Given the description of an element on the screen output the (x, y) to click on. 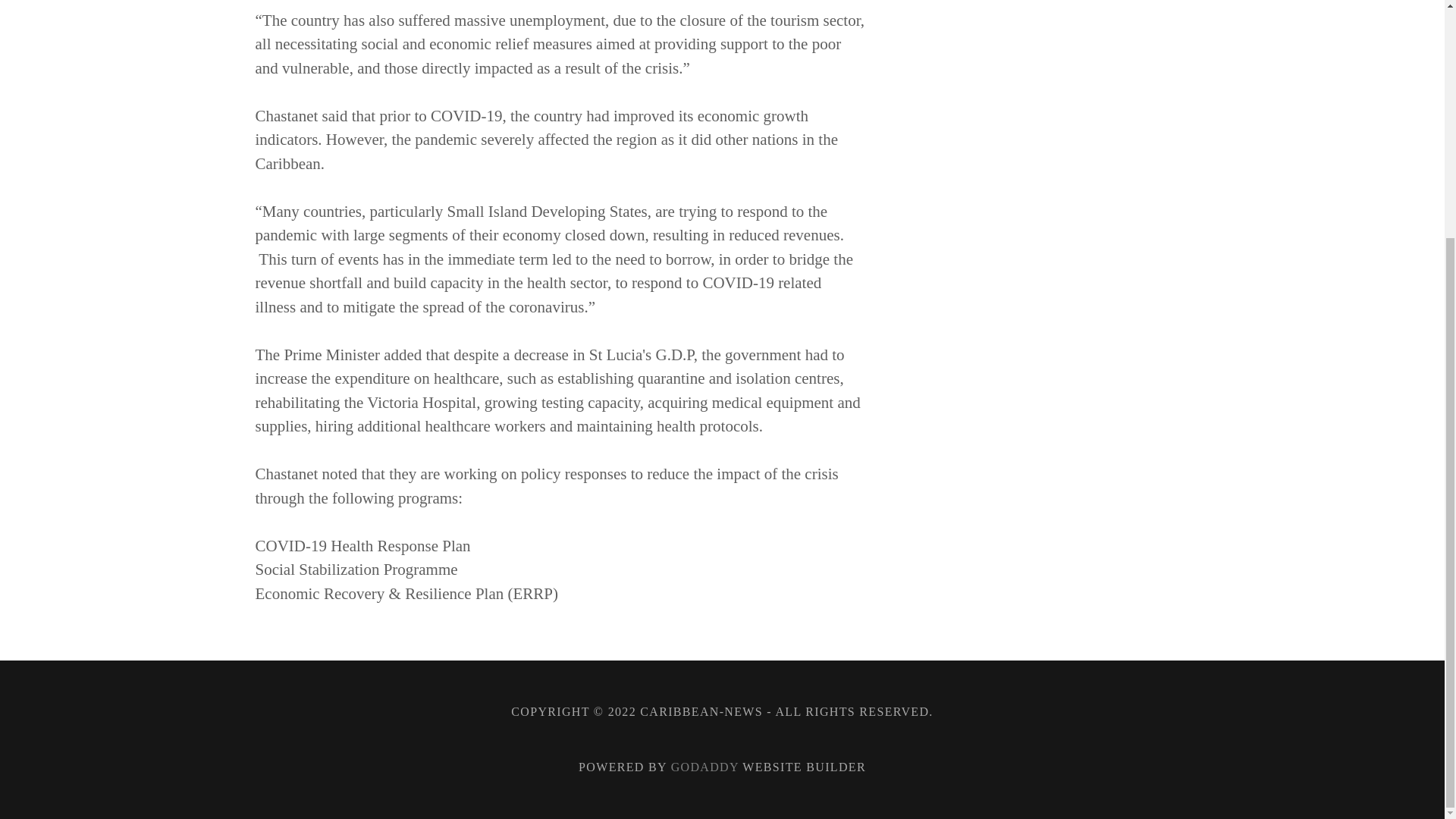
GODADDY (705, 766)
